Given the description of an element on the screen output the (x, y) to click on. 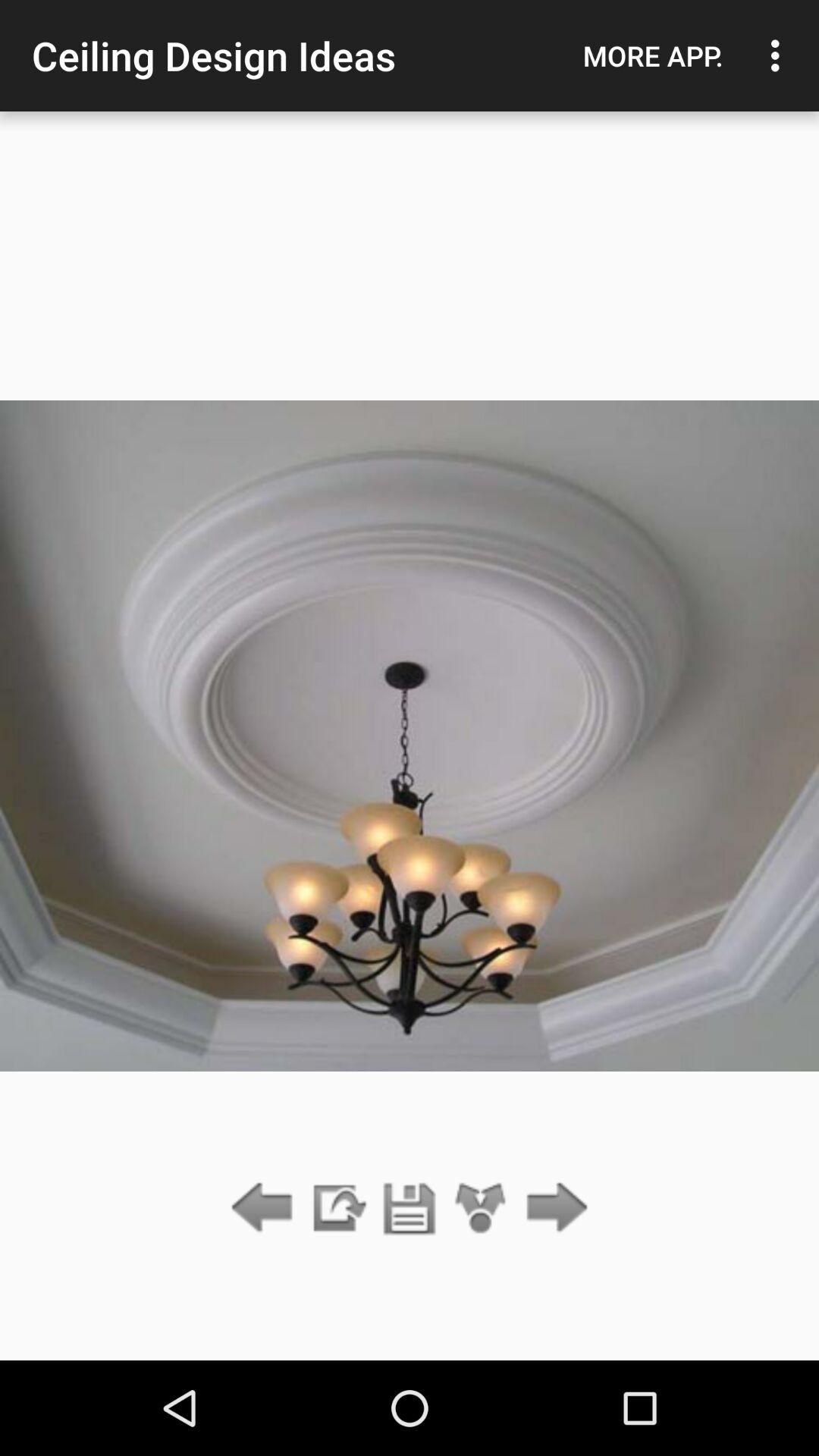
go to next (552, 1209)
